Given the description of an element on the screen output the (x, y) to click on. 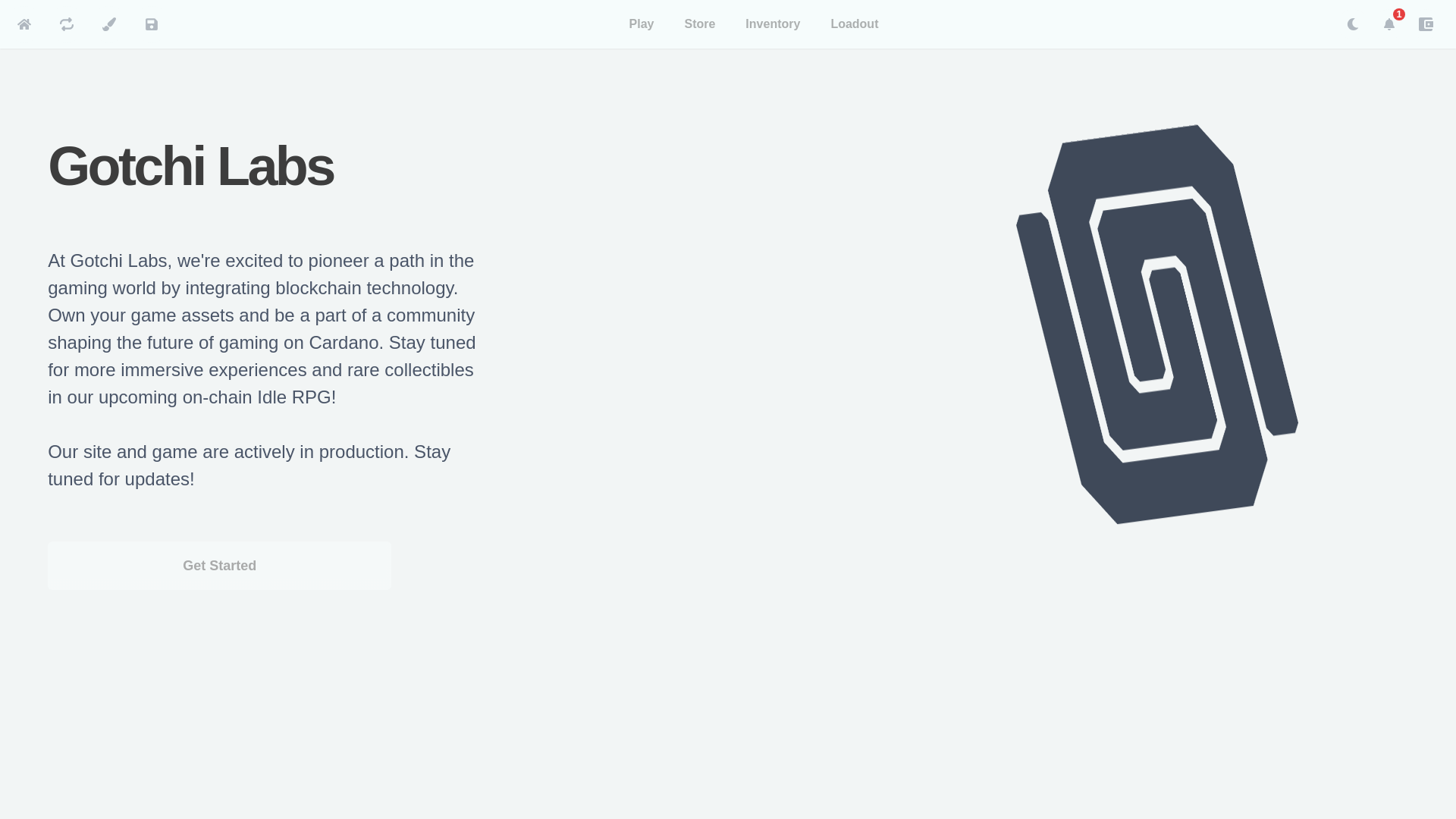
Inventory (772, 24)
Loadout (853, 24)
Get Started (219, 565)
Store (698, 24)
Play (641, 24)
